Given the description of an element on the screen output the (x, y) to click on. 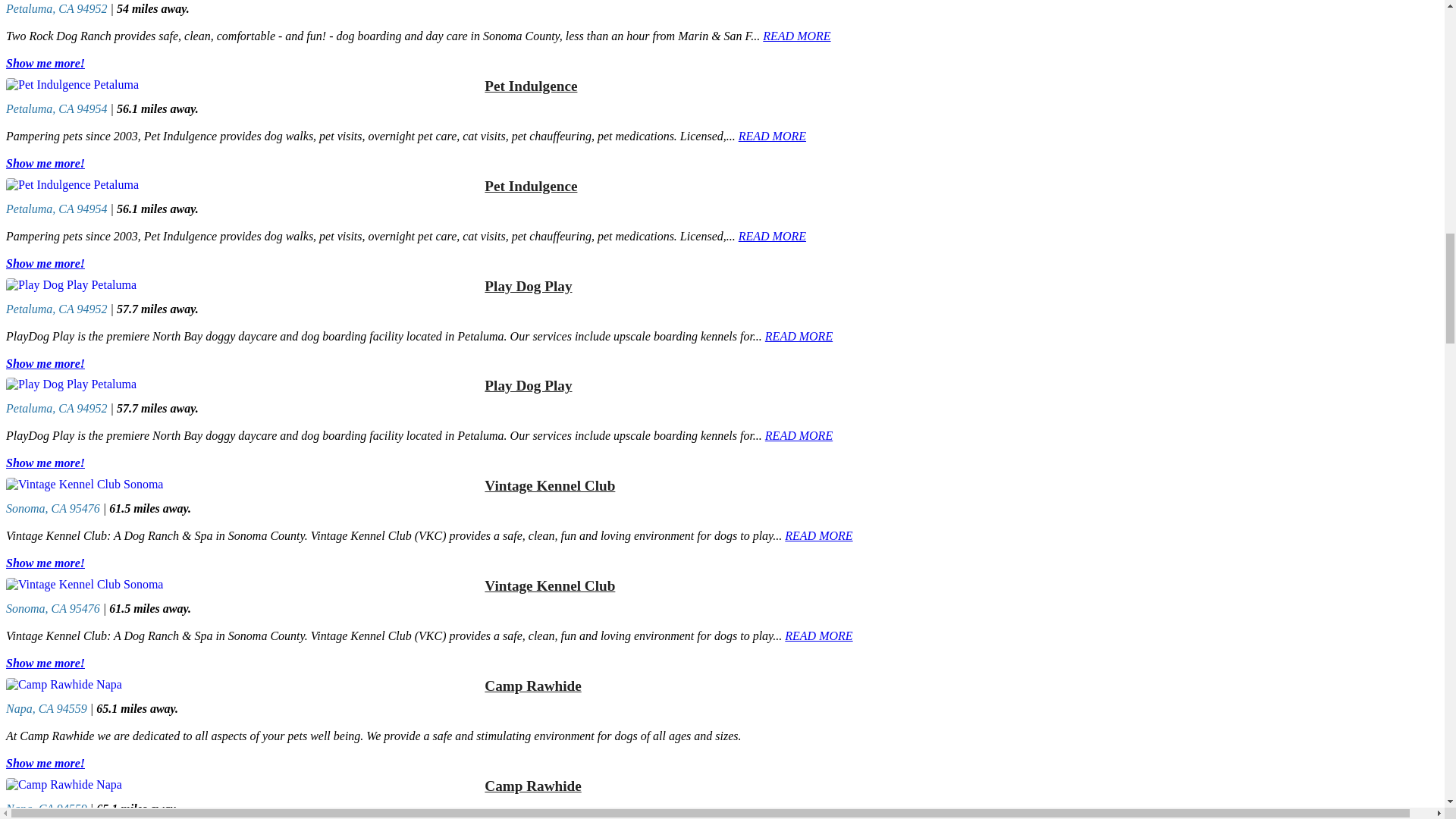
Camp Rawhide Napa (242, 784)
Play Dog Play Petaluma (242, 384)
Camp Rawhide Napa (242, 684)
Pet Indulgence Petaluma (242, 184)
Vintage Kennel Club Sonoma (242, 484)
Pet Indulgence Petaluma (242, 84)
Play Dog Play Petaluma (242, 284)
Vintage Kennel Club Sonoma (242, 584)
